Given the description of an element on the screen output the (x, y) to click on. 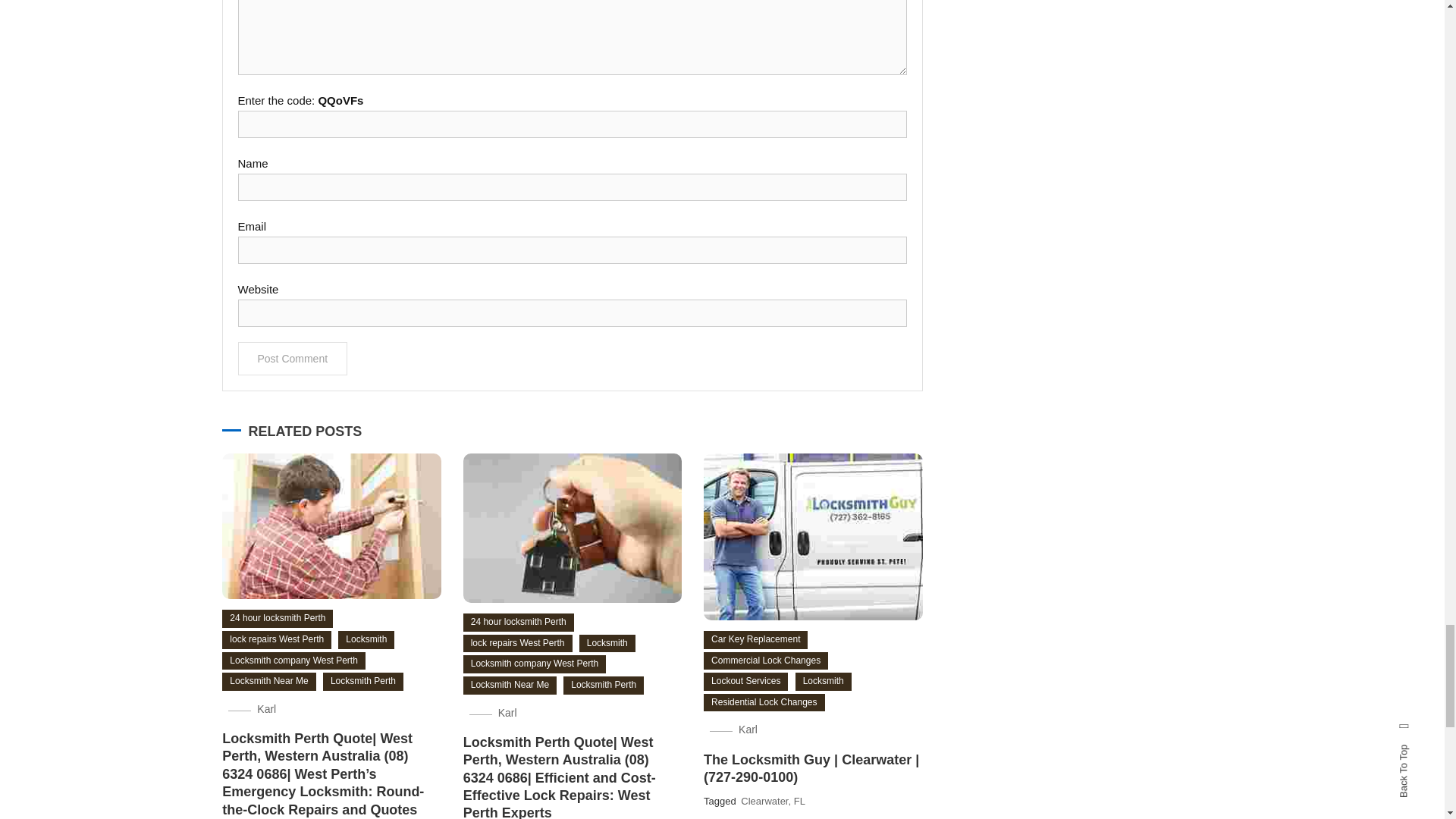
Post Comment (292, 358)
